Given the description of an element on the screen output the (x, y) to click on. 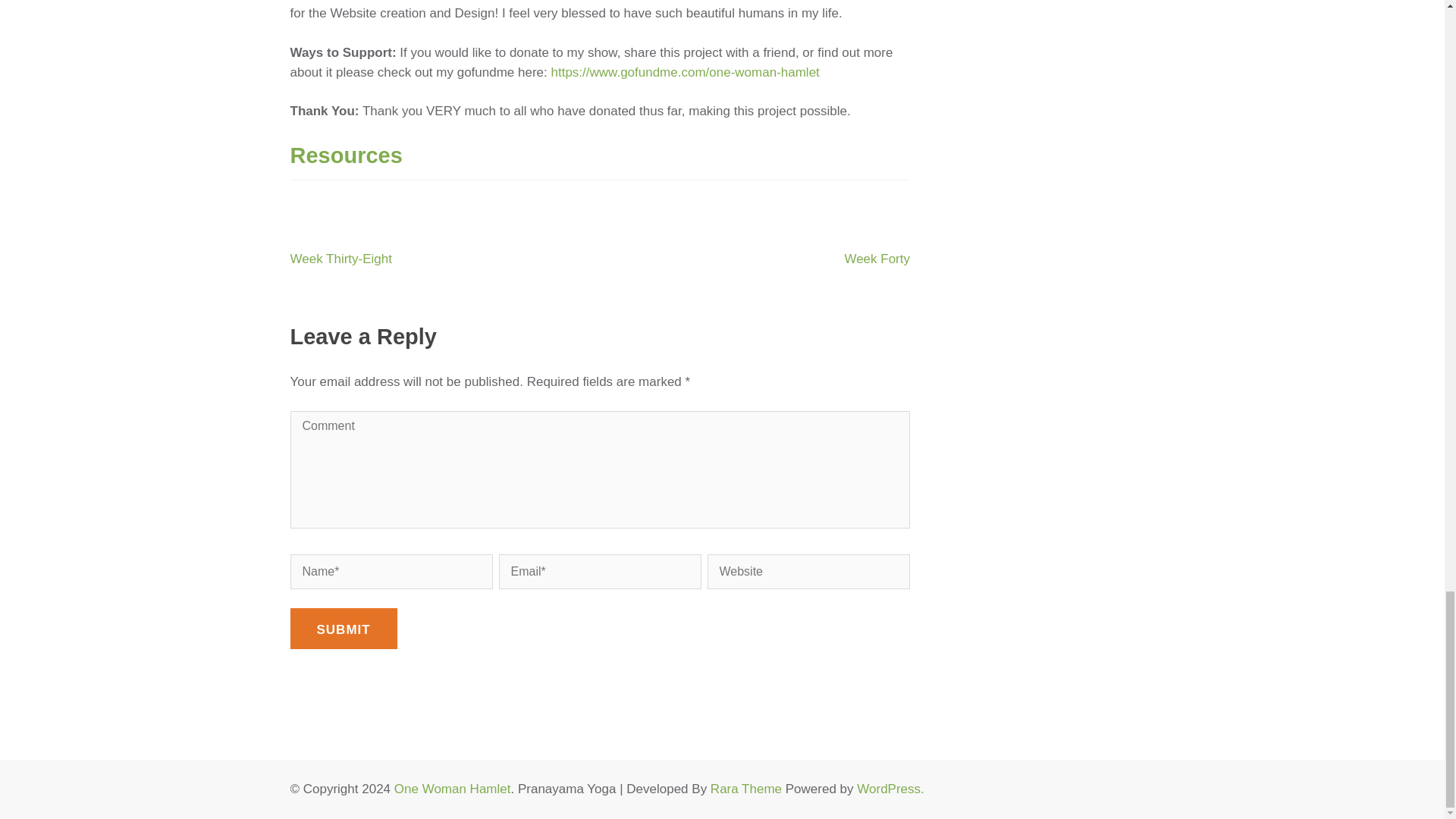
Submit (342, 628)
WordPress. (890, 789)
Resources (345, 155)
Rara Theme (745, 789)
Week Forty (877, 258)
Week Thirty-Eight (340, 258)
Submit (342, 628)
One Woman Hamlet (452, 789)
